Given the description of an element on the screen output the (x, y) to click on. 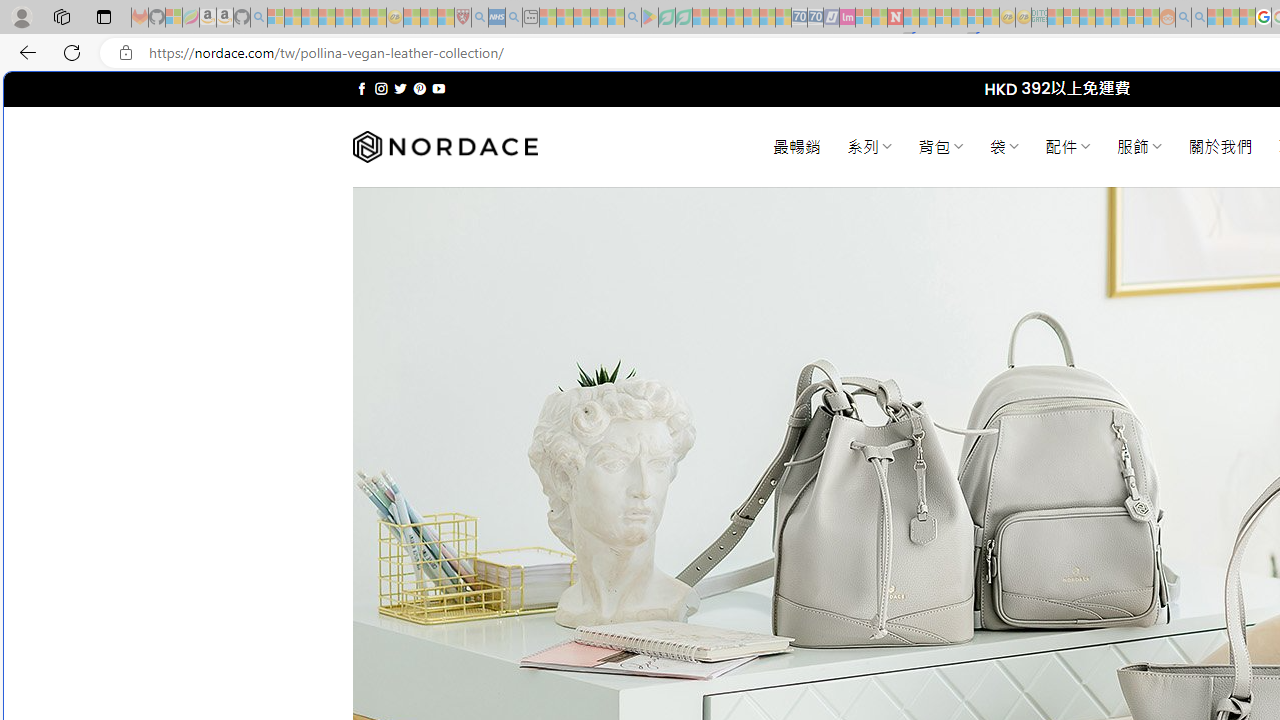
Nordace (444, 147)
Follow on Pinterest (419, 88)
Cheap Car Rentals - Save70.com - Sleeping (799, 17)
list of asthma inhalers uk - Search - Sleeping (479, 17)
Follow on Twitter (400, 88)
Tab actions menu (104, 16)
Pets - MSN - Sleeping (598, 17)
The Weather Channel - MSN - Sleeping (309, 17)
Local - MSN - Sleeping (445, 17)
